Given the description of an element on the screen output the (x, y) to click on. 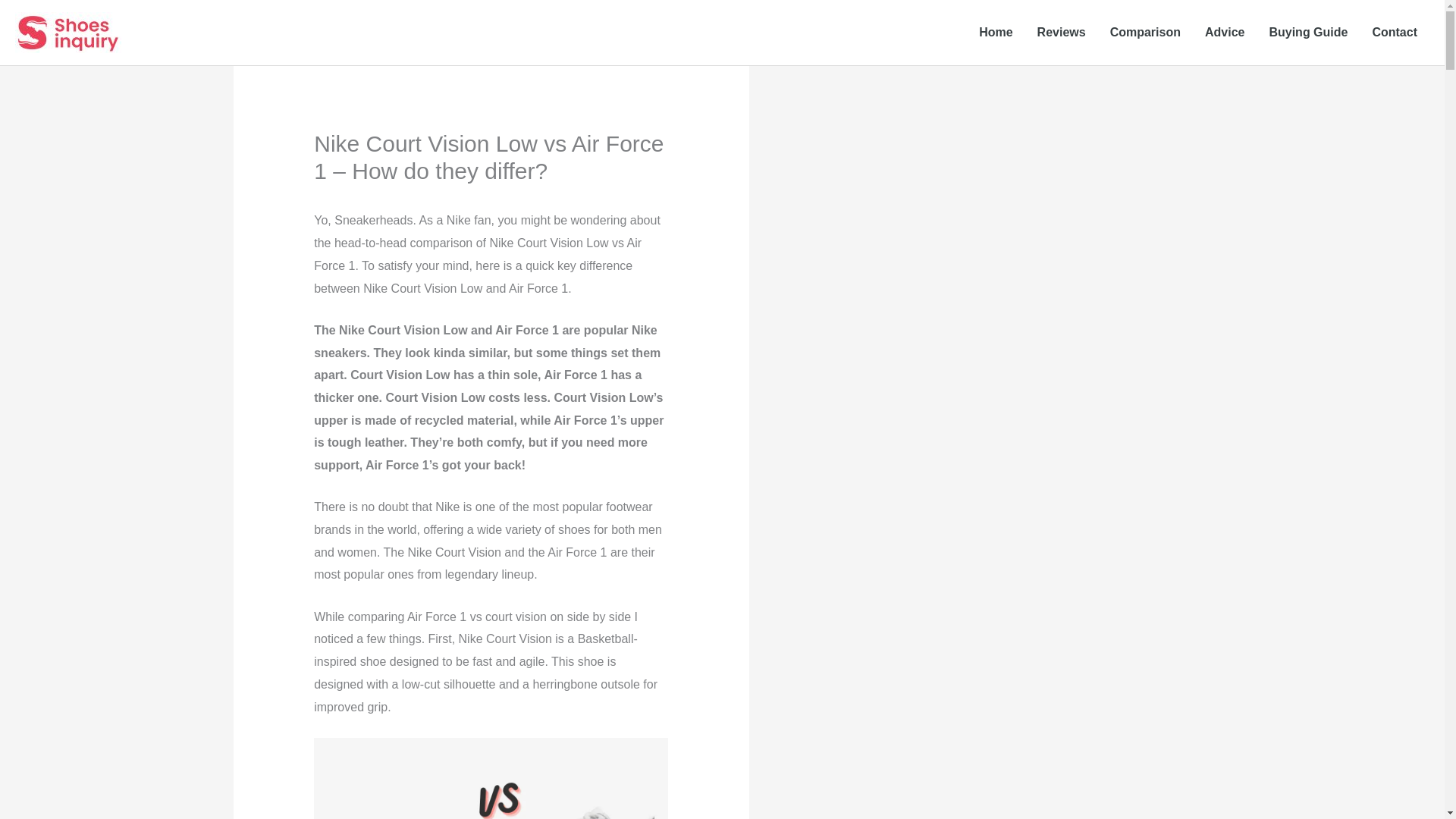
Home (995, 31)
Comparison (1144, 31)
Contact (1394, 31)
Reviews (1061, 31)
Buying Guide (1307, 31)
Advice (1224, 31)
